Given the description of an element on the screen output the (x, y) to click on. 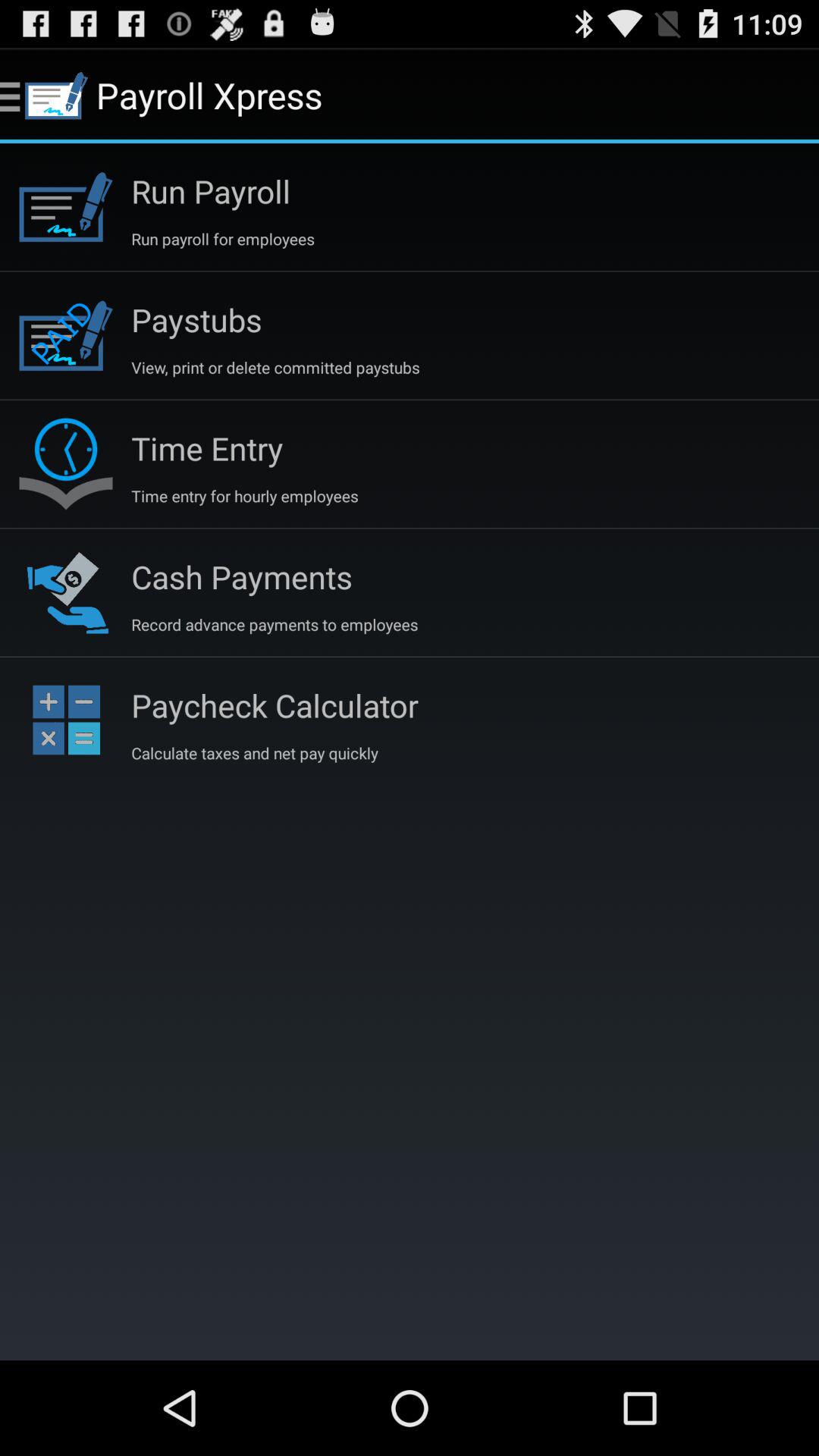
turn on paycheck calculator icon (274, 705)
